Given the description of an element on the screen output the (x, y) to click on. 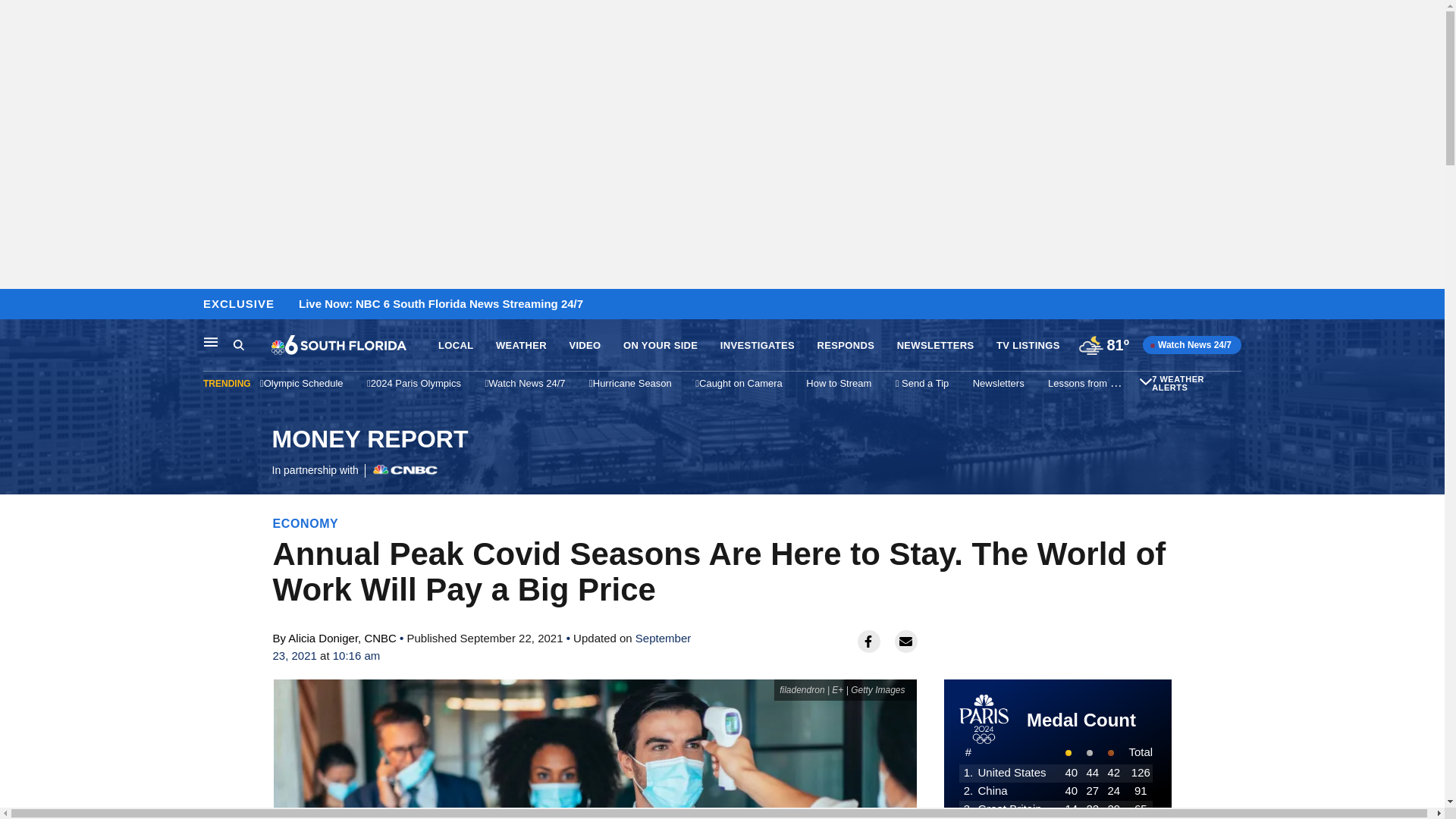
Lessons from the Jungle (1102, 383)
ECONOMY (306, 523)
WEATHER (368, 452)
How to Stream (521, 345)
LOCAL (838, 383)
Search (455, 345)
VIDEO (238, 344)
NEWSLETTERS (584, 345)
TV LISTINGS (935, 345)
